Given the description of an element on the screen output the (x, y) to click on. 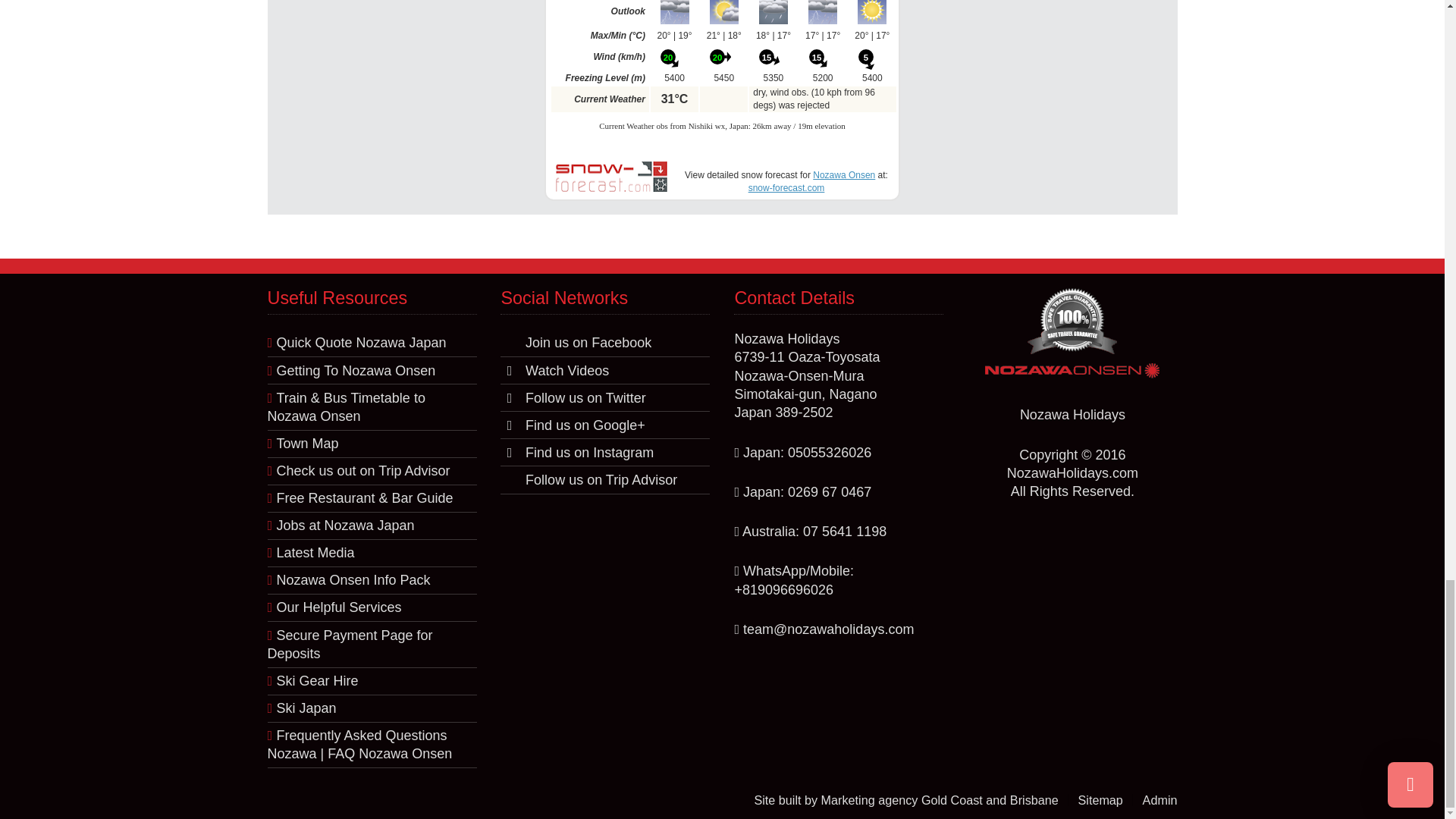
Web Site Marketing Experts (939, 799)
